Given the description of an element on the screen output the (x, y) to click on. 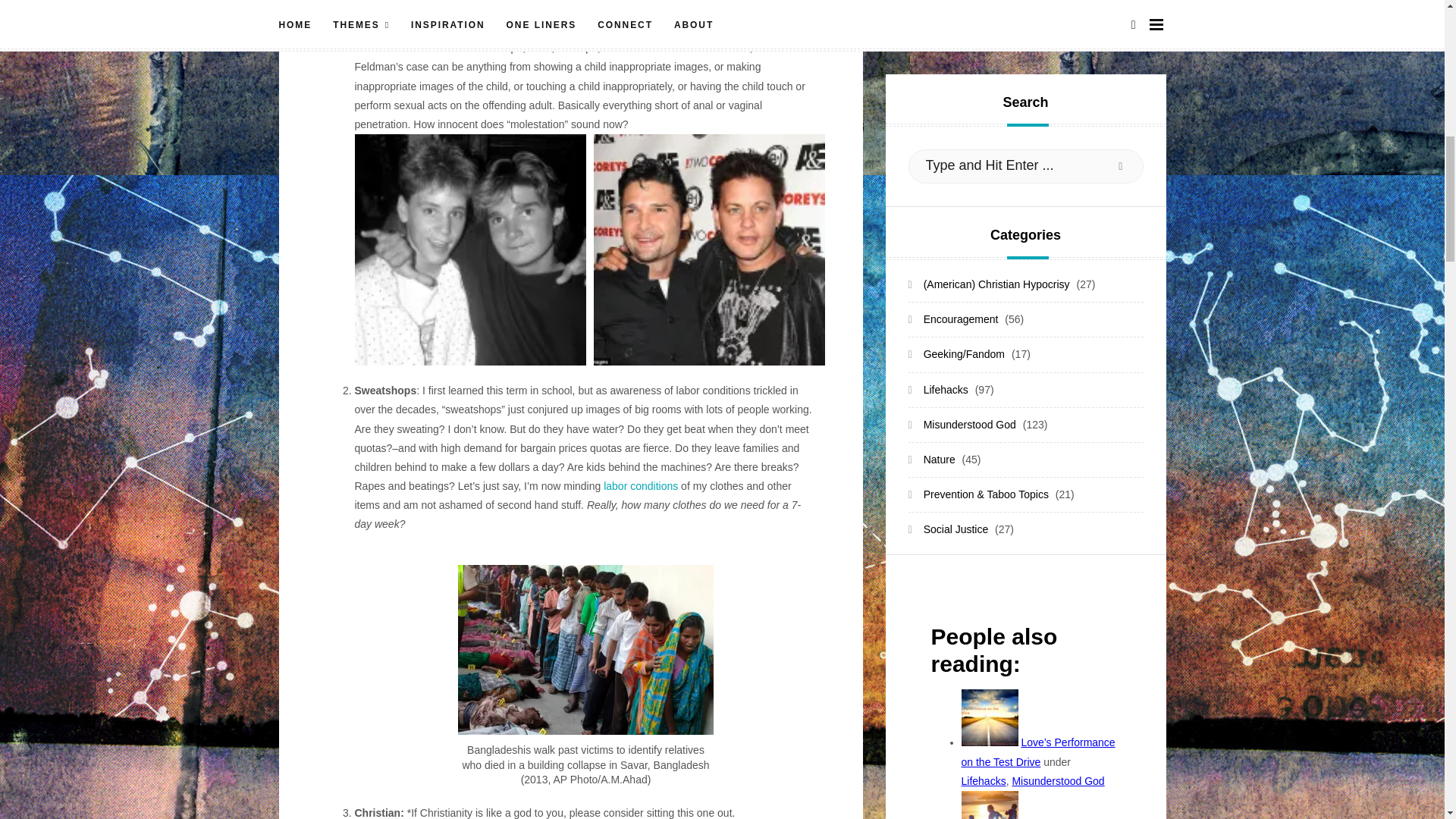
labor conditions (641, 485)
